Given the description of an element on the screen output the (x, y) to click on. 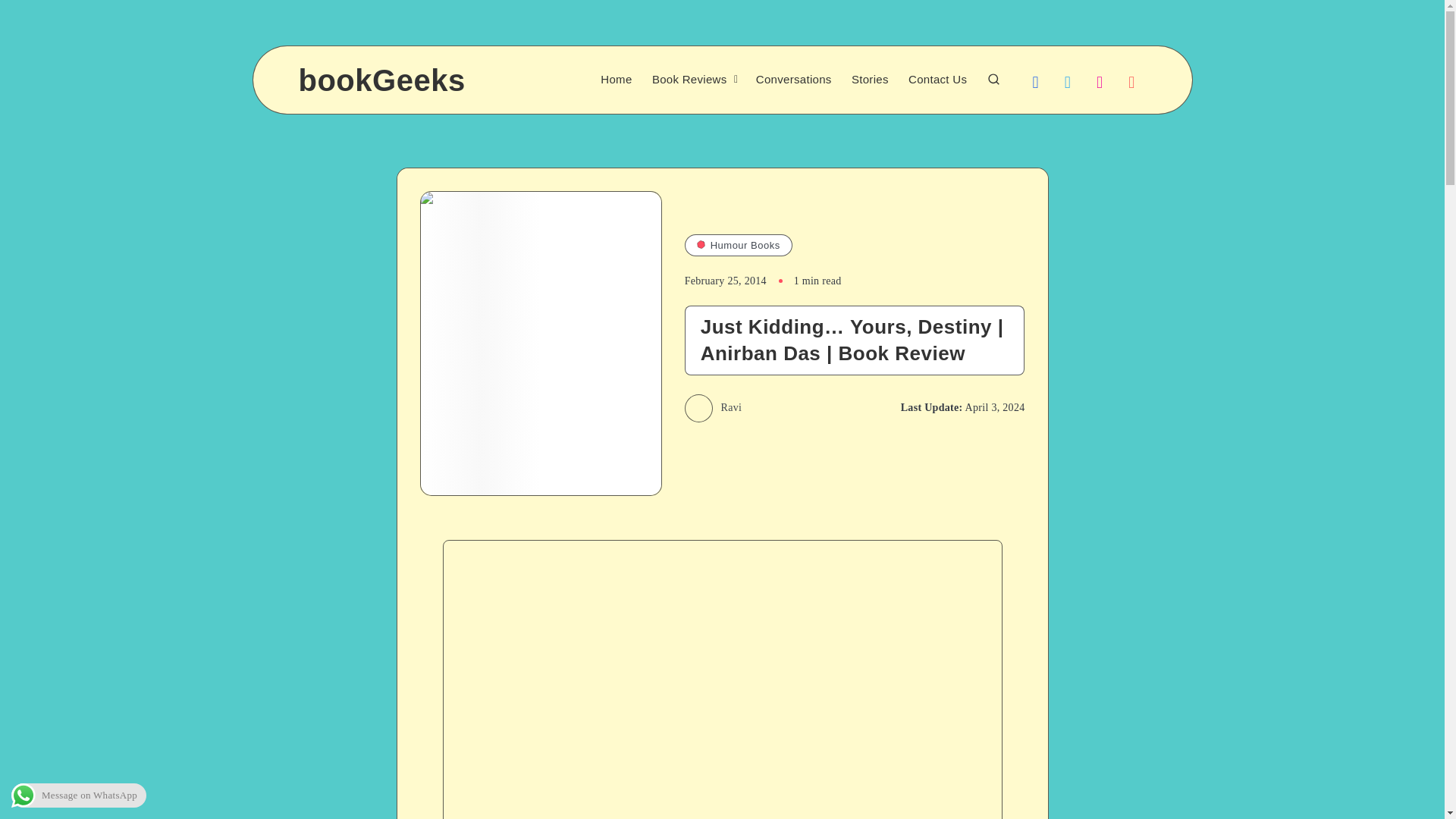
Conversations (793, 79)
bookGeeks (381, 80)
Ravi (712, 407)
Home (615, 79)
Author: Ravi (712, 407)
Humour Books (738, 245)
Stories (869, 79)
Contact Us (937, 79)
Book Reviews (689, 79)
